Given the description of an element on the screen output the (x, y) to click on. 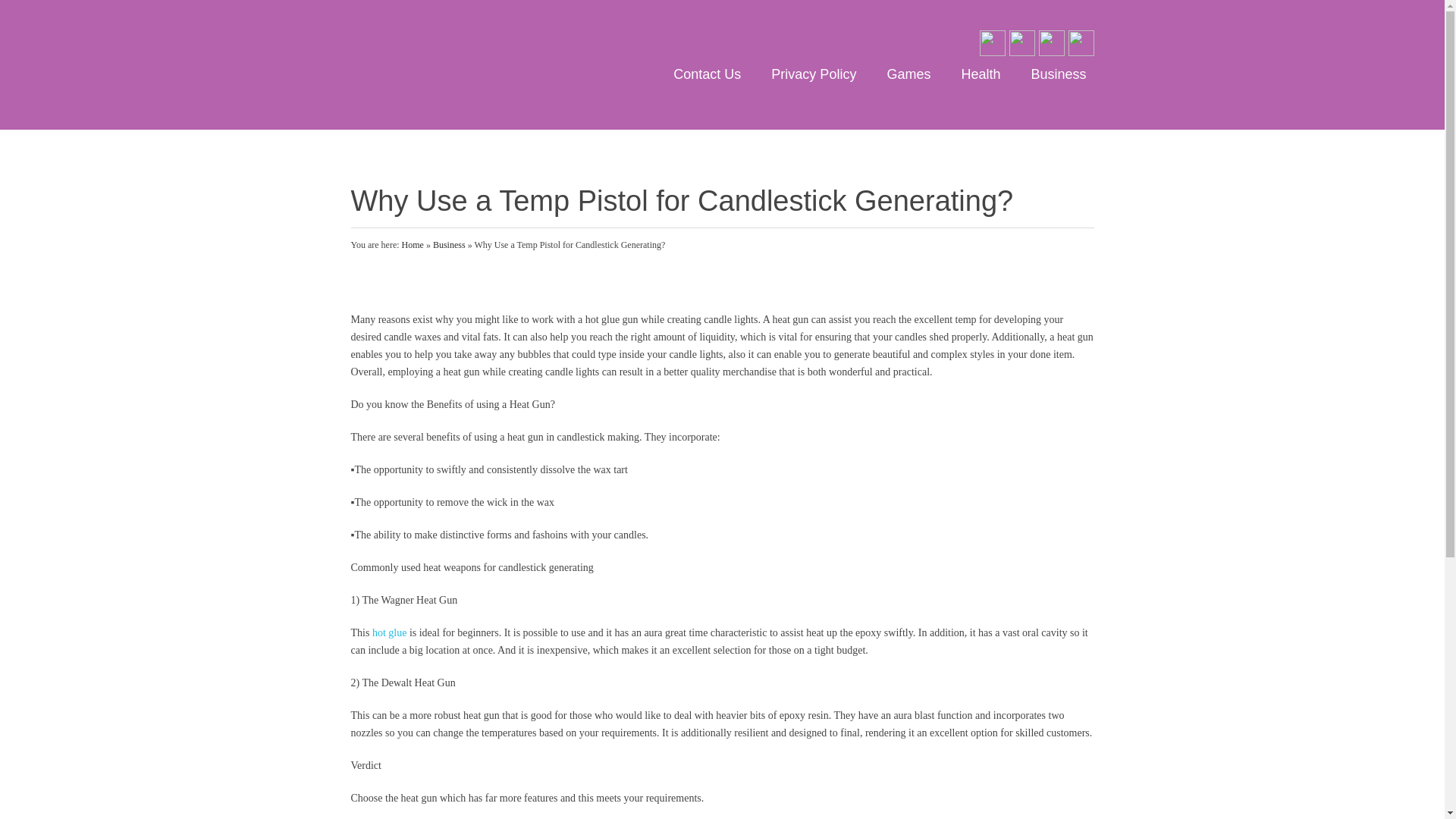
Business (1058, 74)
Games (908, 74)
Health (980, 74)
Privacy Policy (812, 74)
Business (448, 244)
Home (412, 244)
hot glue (389, 632)
Contact Us (706, 74)
